Given the description of an element on the screen output the (x, y) to click on. 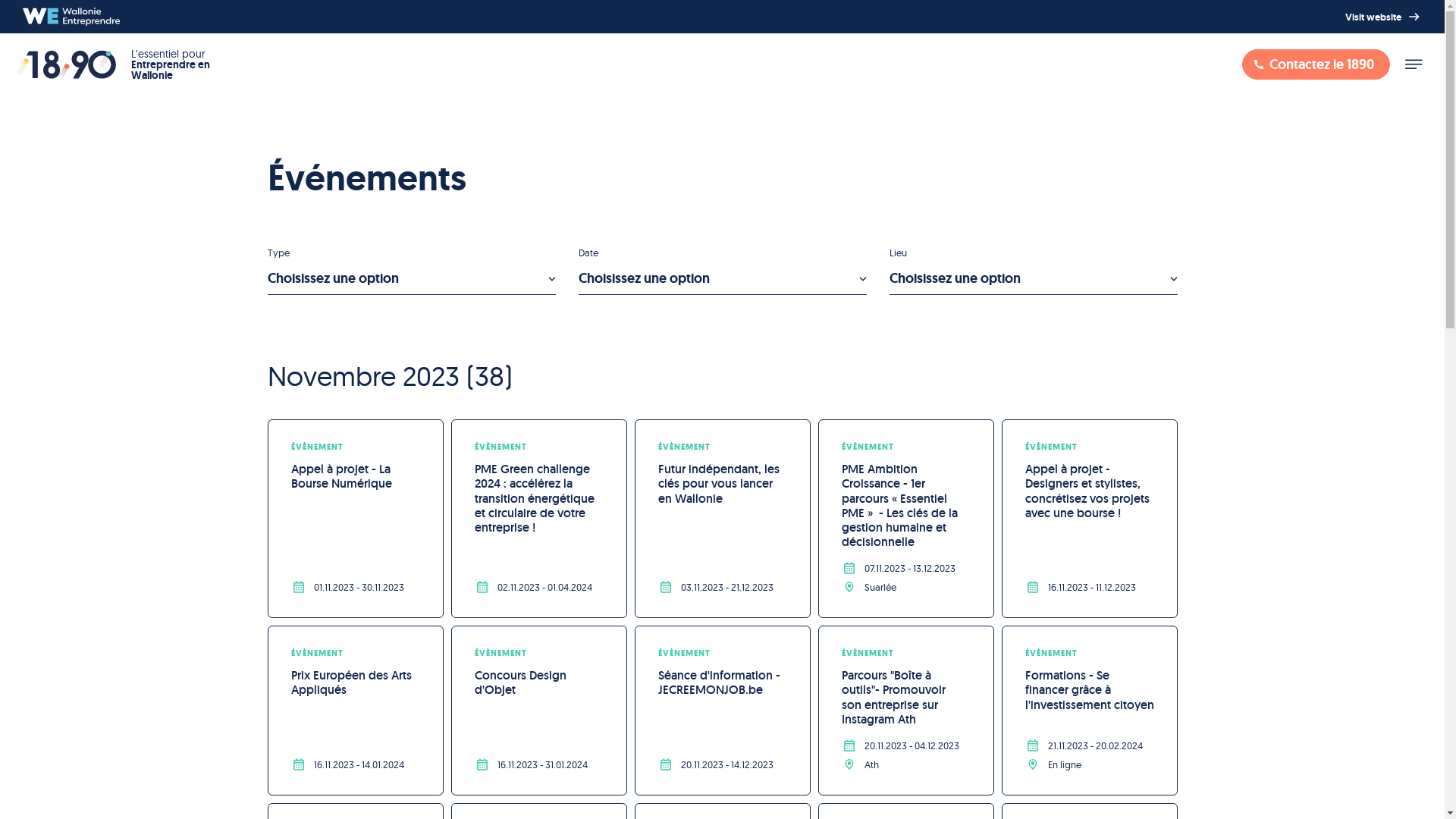
Contactez le 1890 Element type: text (1316, 64)
Wallonie Entreprendre Element type: hover (70, 16)
Choisissez une option Element type: text (1032, 278)
Visit website Element type: text (1383, 16)
Choisissez une option Element type: text (721, 278)
Choisissez une option Element type: text (410, 278)
